Given the description of an element on the screen output the (x, y) to click on. 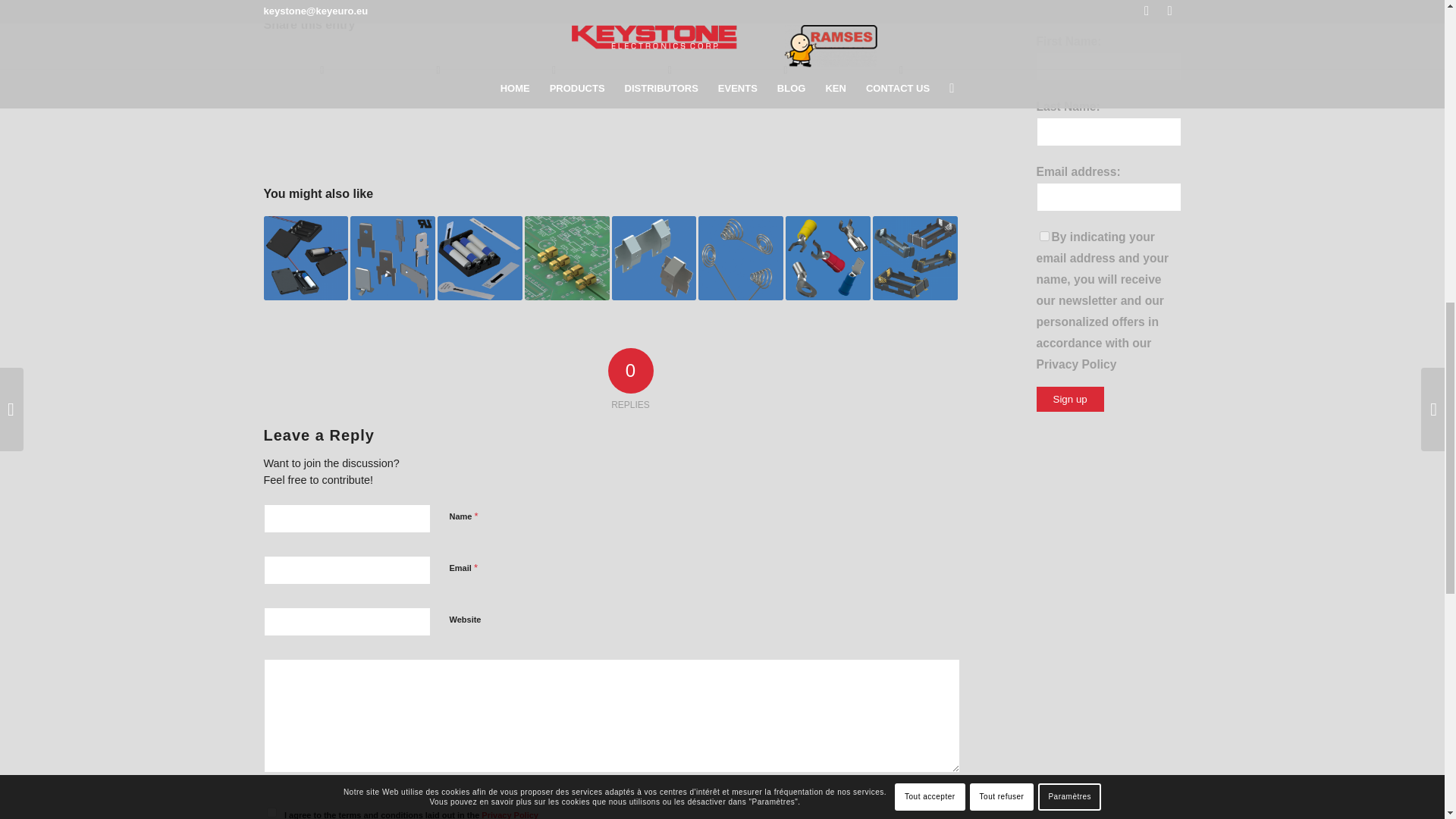
yes (271, 812)
1 (1043, 235)
Sign up (1069, 398)
